Given the description of an element on the screen output the (x, y) to click on. 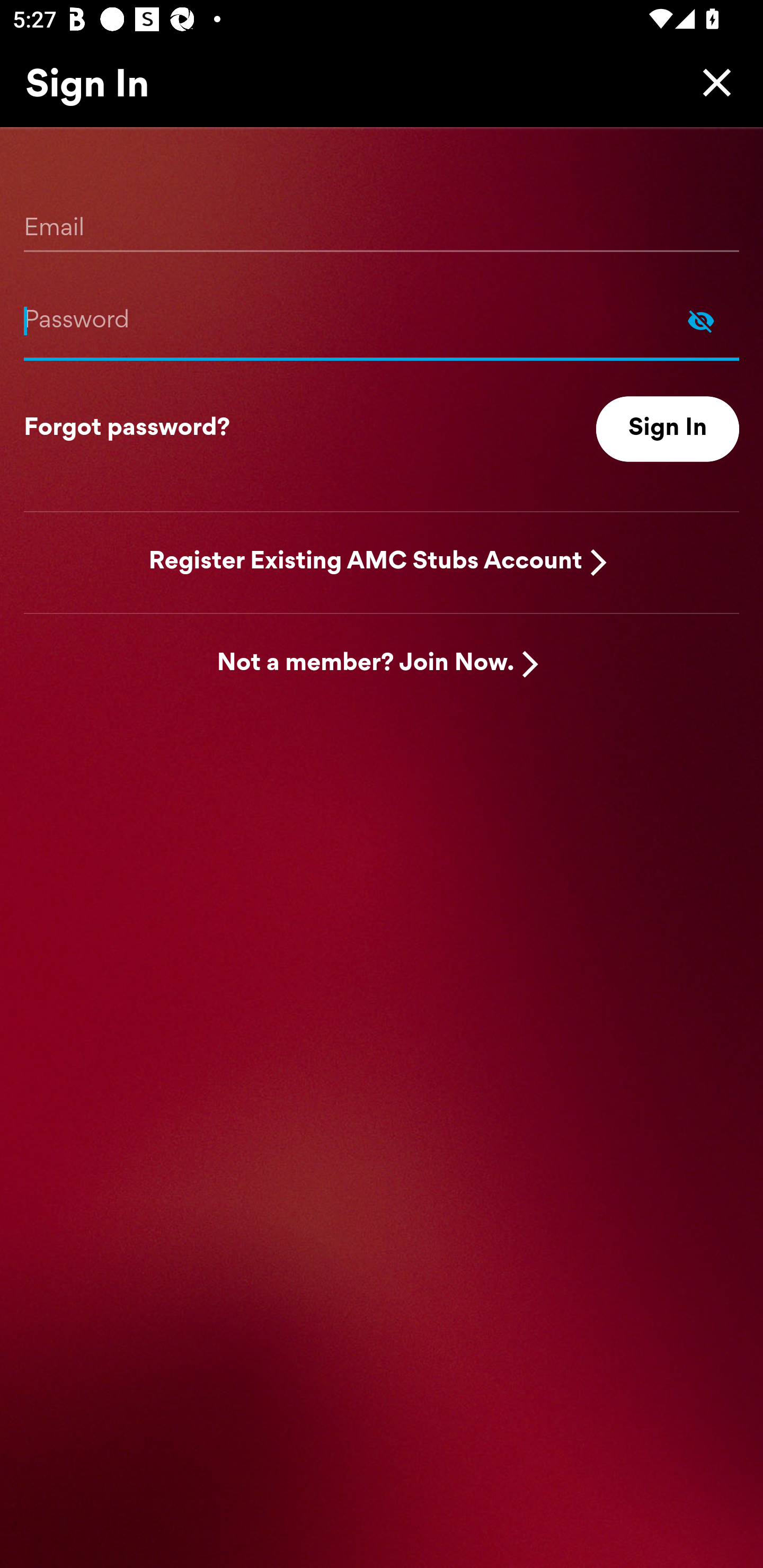
Close (712, 82)
Hide Password (381, 320)
Hide Password (701, 320)
Forgot password? (126, 428)
Sign In (667, 428)
Register Existing AMC Stubs Account (365, 561)
Not a member? Join Now. (365, 663)
